Given the description of an element on the screen output the (x, y) to click on. 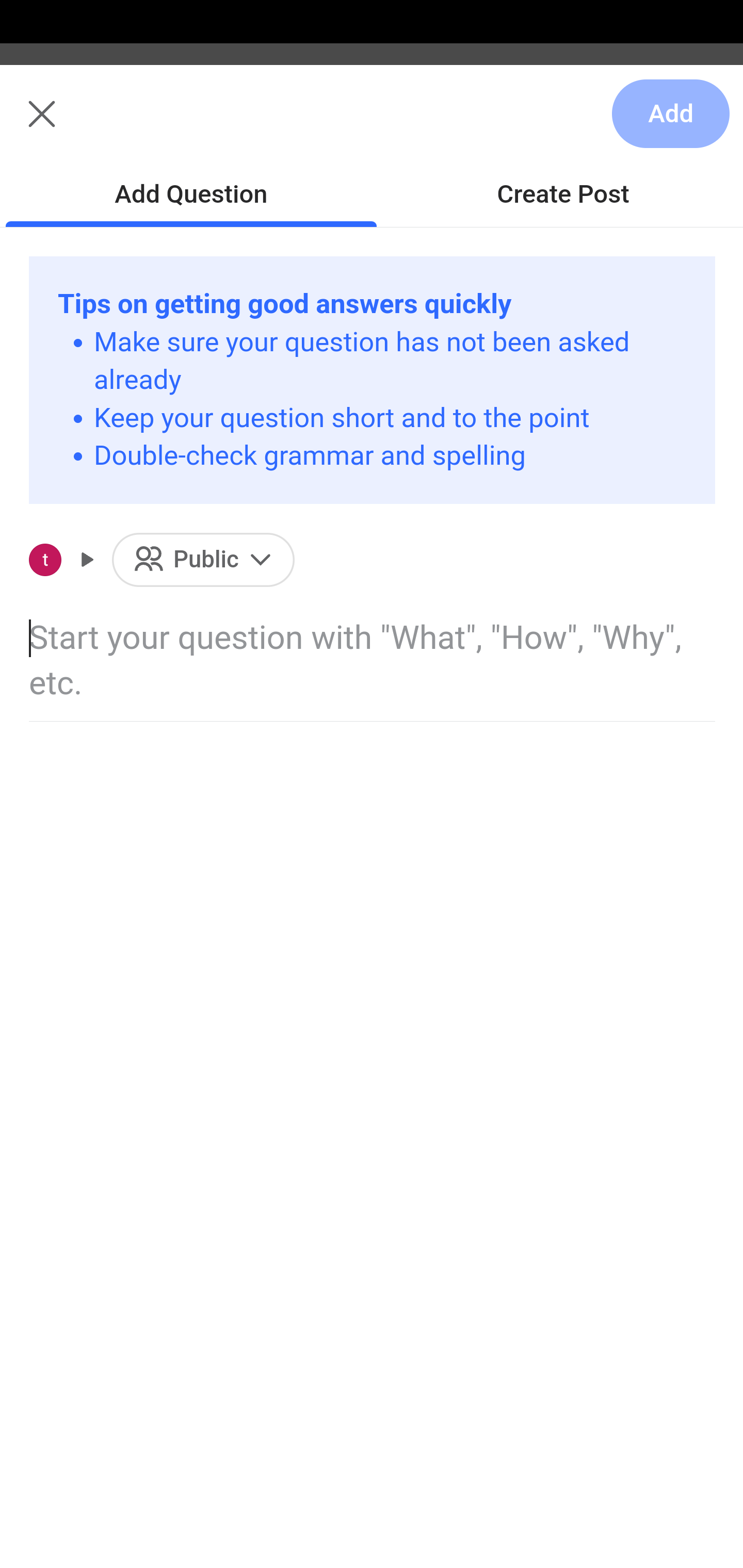
Me Home Search Add (371, 125)
Me (64, 125)
